Given the description of an element on the screen output the (x, y) to click on. 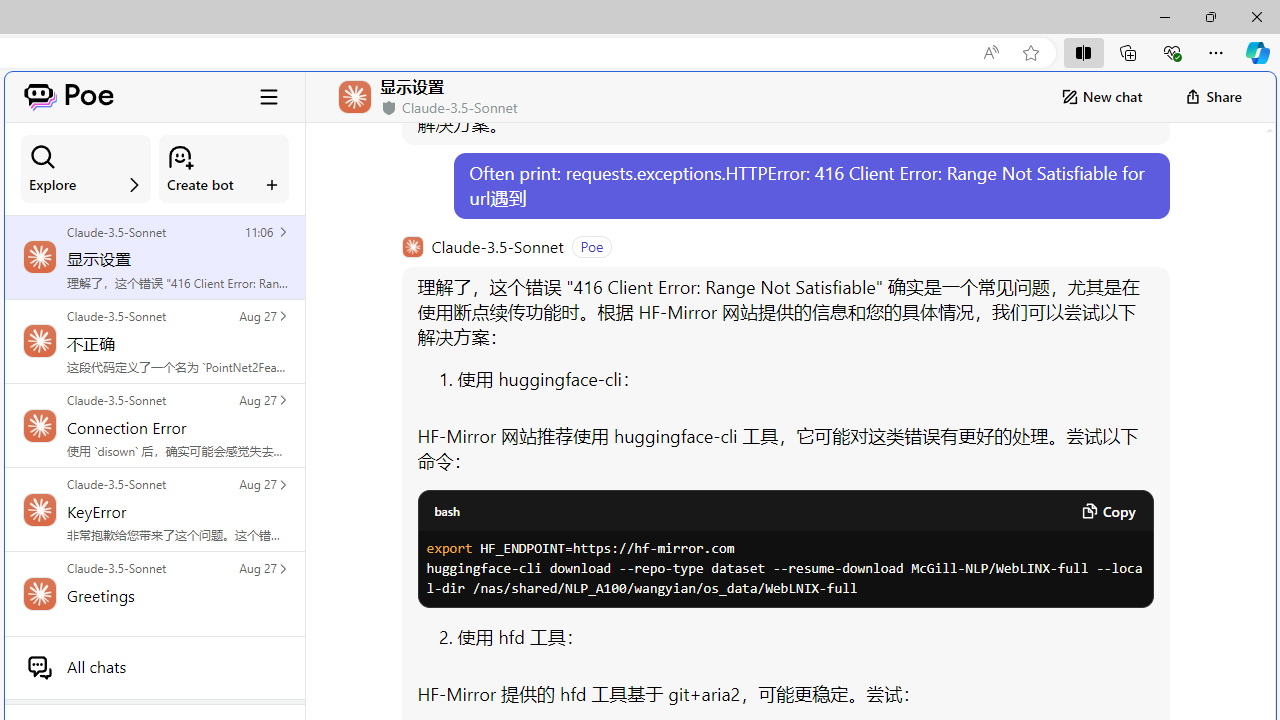
All chats (154, 667)
